Given the description of an element on the screen output the (x, y) to click on. 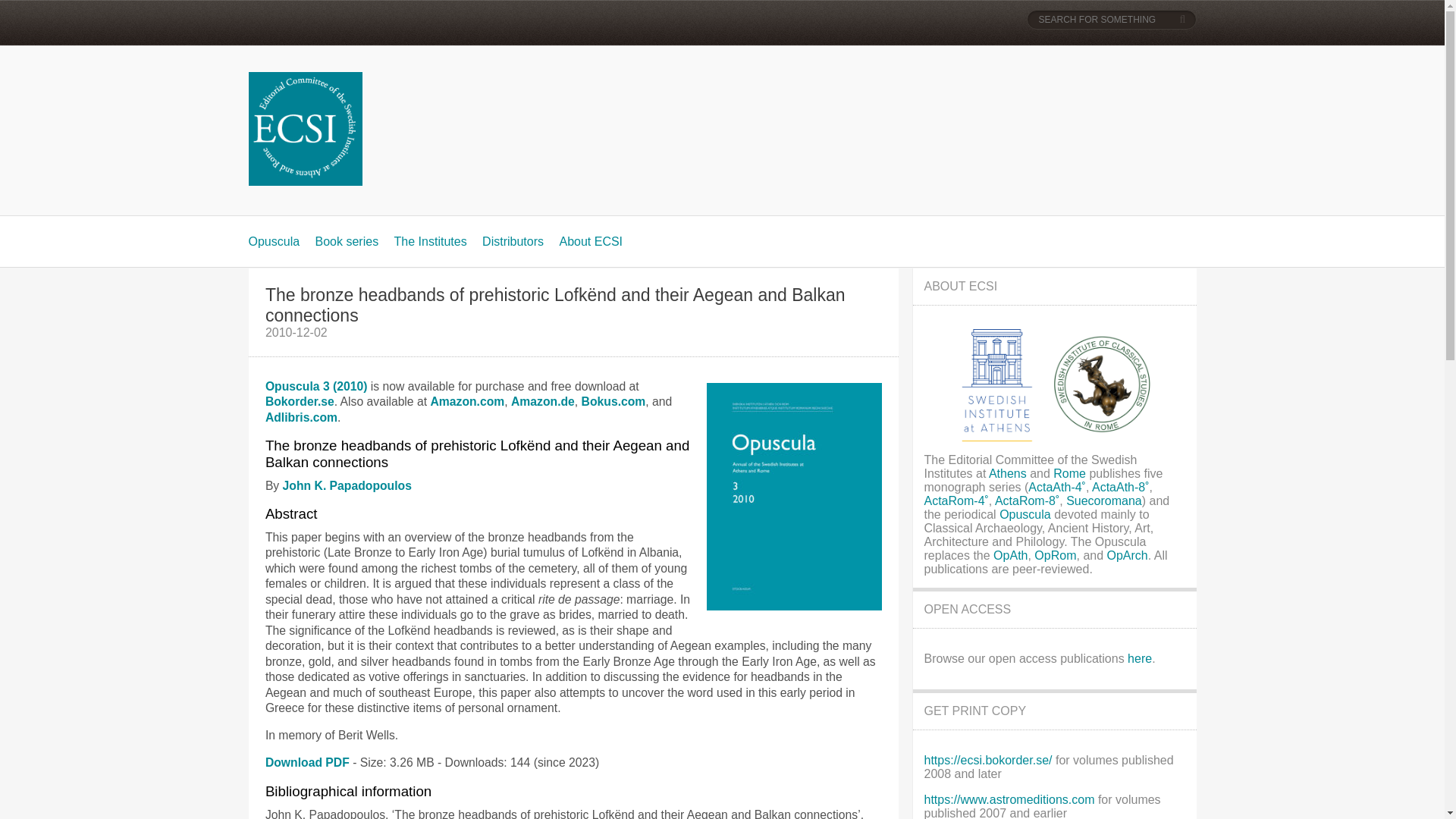
Opuscula (273, 241)
Opuscula (1026, 513)
Bokorder.se (299, 400)
Book series (346, 241)
here (1138, 658)
OpArch (1127, 554)
Amazon.com (466, 400)
144 downloads (306, 762)
OpRom (1054, 554)
Rome (1069, 472)
John K. Papadopoulos (347, 485)
The Institutes (430, 241)
Suecoromana (1103, 500)
Download PDF (306, 762)
Amazon.de (543, 400)
